Given the description of an element on the screen output the (x, y) to click on. 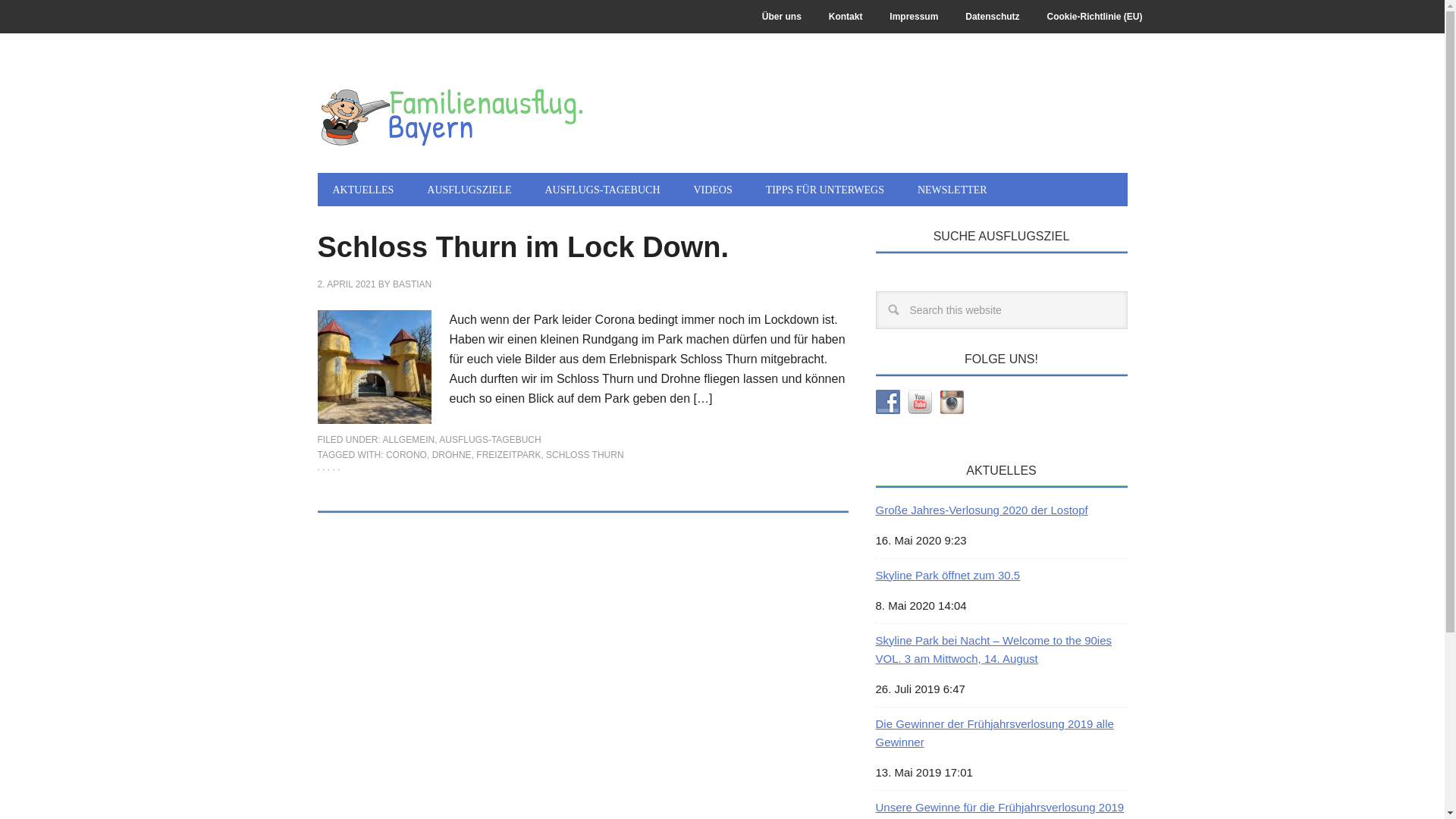
Follow Us on YouTube Element type: hover (918, 401)
Familienausflug Bayern Element type: text (449, 114)
AUSFLUGSZIELE Element type: text (468, 189)
ALLGEMEIN Element type: text (408, 439)
NEWSLETTER Element type: text (952, 189)
SCHLOSS THURN Element type: text (584, 454)
AKTUELLES Element type: text (362, 189)
Datenschutz Element type: text (992, 16)
CORONO Element type: text (405, 454)
Schloss Thurn im Lock Down. Element type: text (522, 247)
Impressum Element type: text (913, 16)
AUSFLUGS-TAGEBUCH Element type: text (489, 439)
BASTIAN Element type: text (411, 284)
Follow Us on Instagram Element type: hover (950, 401)
Cookie-Richtlinie (EU) Element type: text (1094, 16)
FREIZEITPARK Element type: text (508, 454)
DROHNE Element type: text (451, 454)
VIDEOS Element type: text (711, 189)
Follow Us on Facebook Element type: hover (887, 401)
Search Element type: text (1126, 290)
AUSFLUGS-TAGEBUCH Element type: text (601, 189)
Kontakt Element type: text (845, 16)
